Given the description of an element on the screen output the (x, y) to click on. 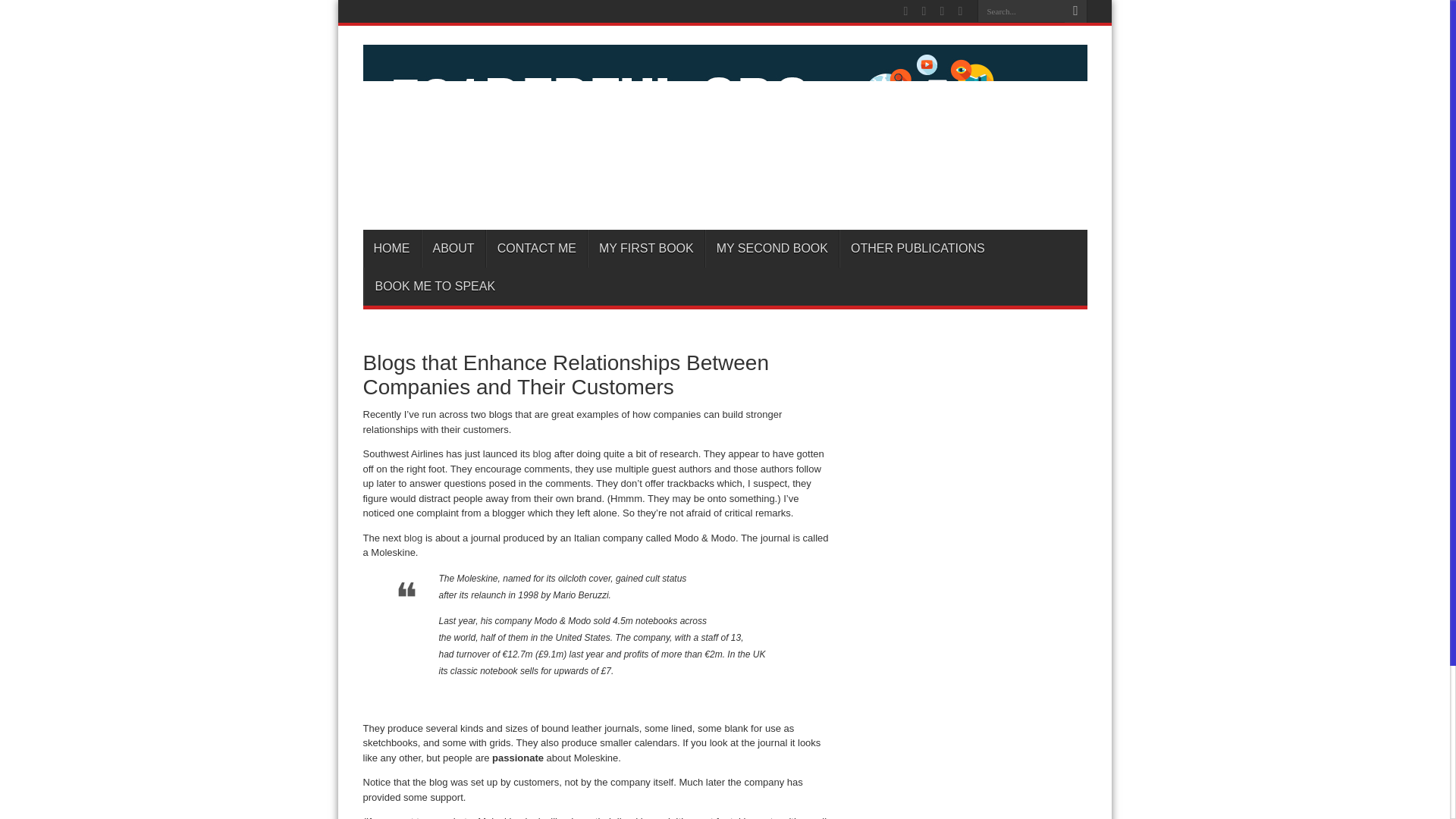
Twitter (923, 11)
Pinterest (941, 11)
501derful.org (724, 191)
LinkedIn (960, 11)
Rss (905, 11)
Search (1075, 11)
Search... (1020, 11)
